Given the description of an element on the screen output the (x, y) to click on. 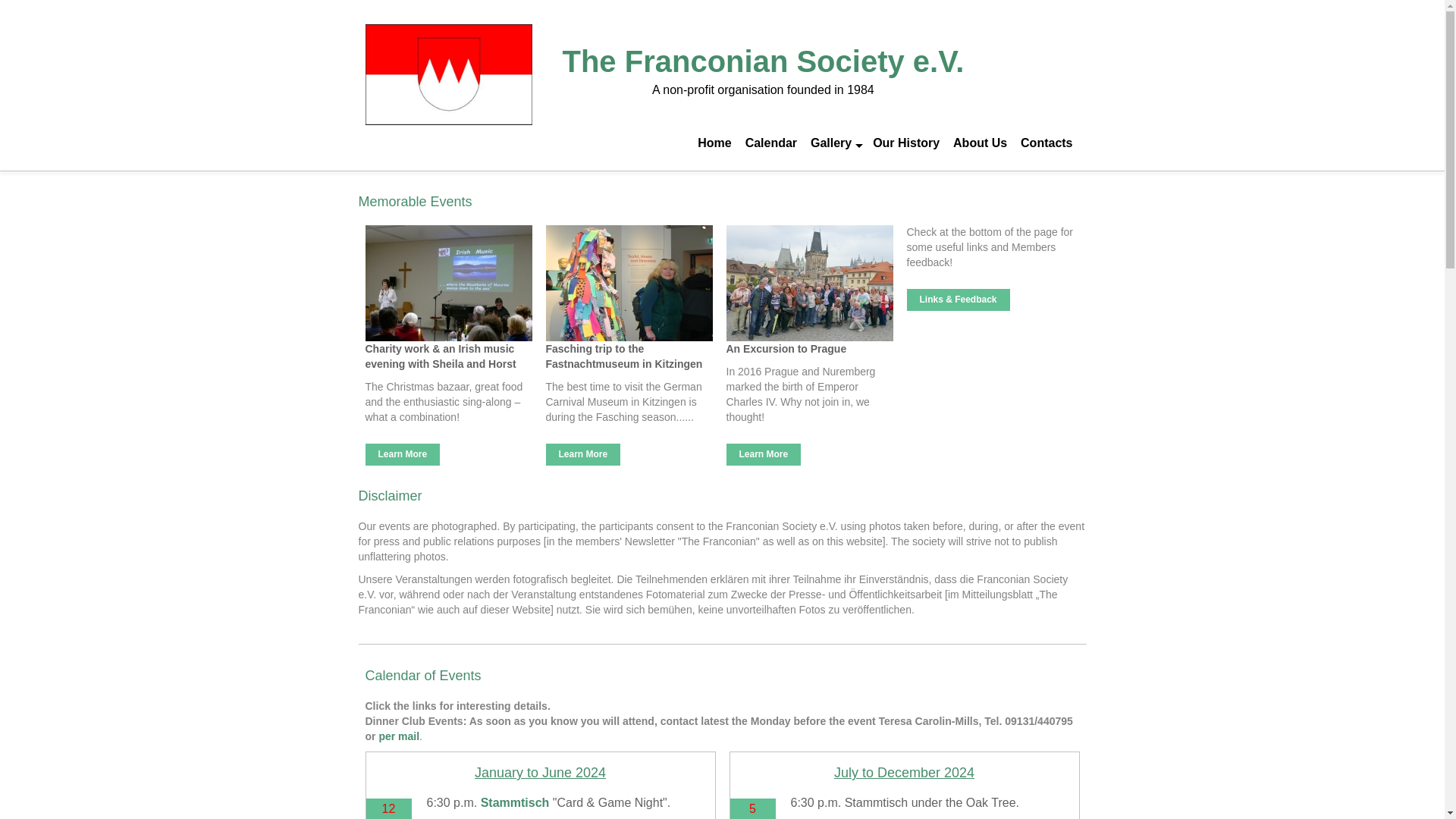
About Us (979, 143)
Stammtisch Location (516, 802)
Gallery (834, 143)
Contacts (1045, 143)
Learn More (764, 454)
An Irish Musical Evening (403, 454)
Galleries (834, 143)
Home (714, 143)
Our History (905, 143)
Calendar (770, 143)
